Given the description of an element on the screen output the (x, y) to click on. 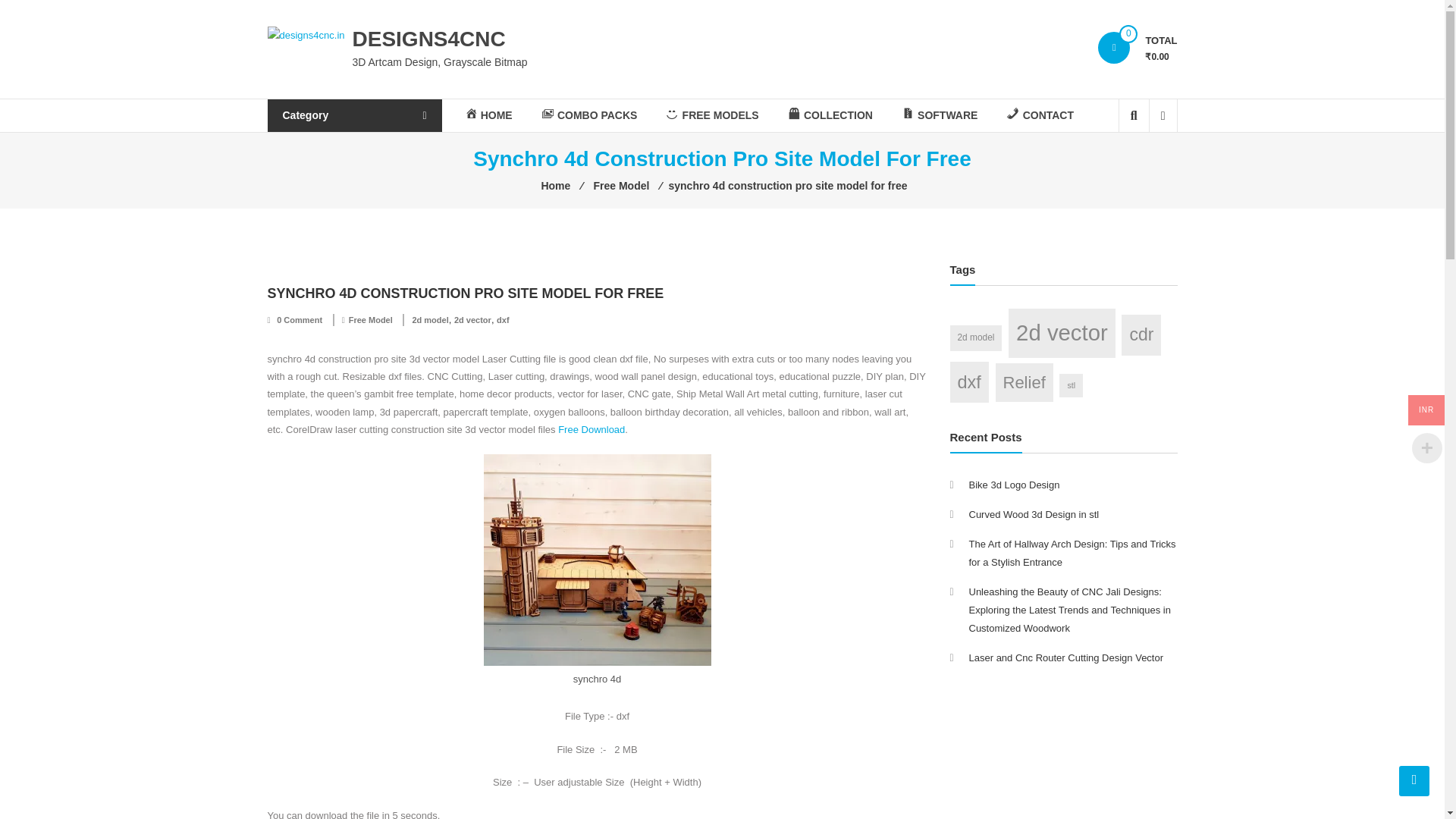
Free Model (620, 185)
dxf (502, 319)
Search (1121, 166)
0 Comment (298, 319)
FREE MODELS (711, 115)
2d vector (473, 319)
DESIGNS4CNC (428, 38)
Home (555, 185)
Free Download (590, 429)
SOFTWARE (939, 115)
